Given the description of an element on the screen output the (x, y) to click on. 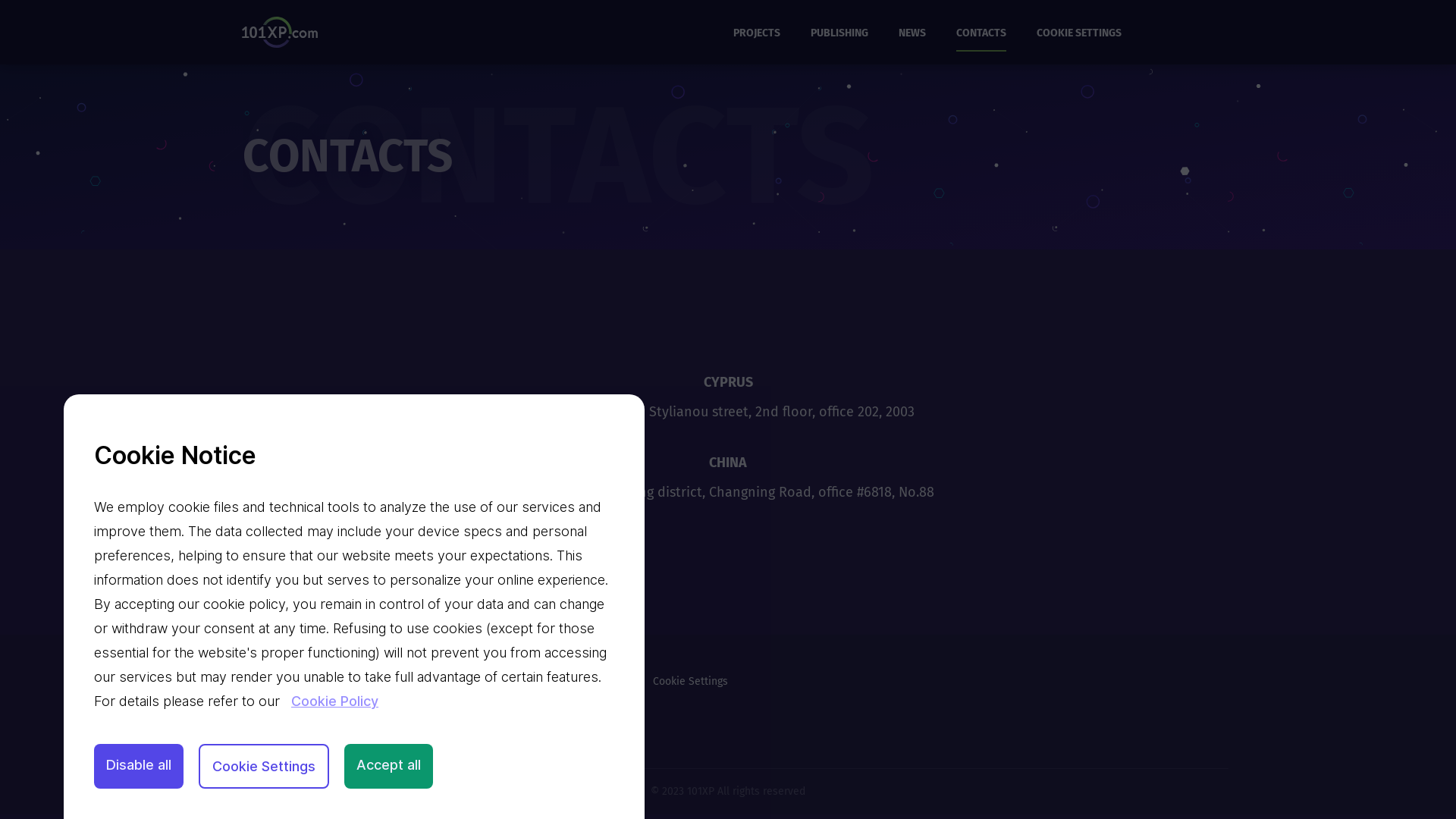
Go to 101XP.com Element type: text (265, 680)
CONTACTS Element type: text (981, 38)
PUBLISHING Element type: text (839, 38)
Contacts Element type: text (593, 680)
NEWS Element type: text (911, 38)
PROJECTS Element type: text (756, 38)
News Element type: text (521, 680)
Projects Element type: text (362, 680)
Cookie Policy Element type: text (334, 701)
Publishing Element type: text (445, 680)
